Given the description of an element on the screen output the (x, y) to click on. 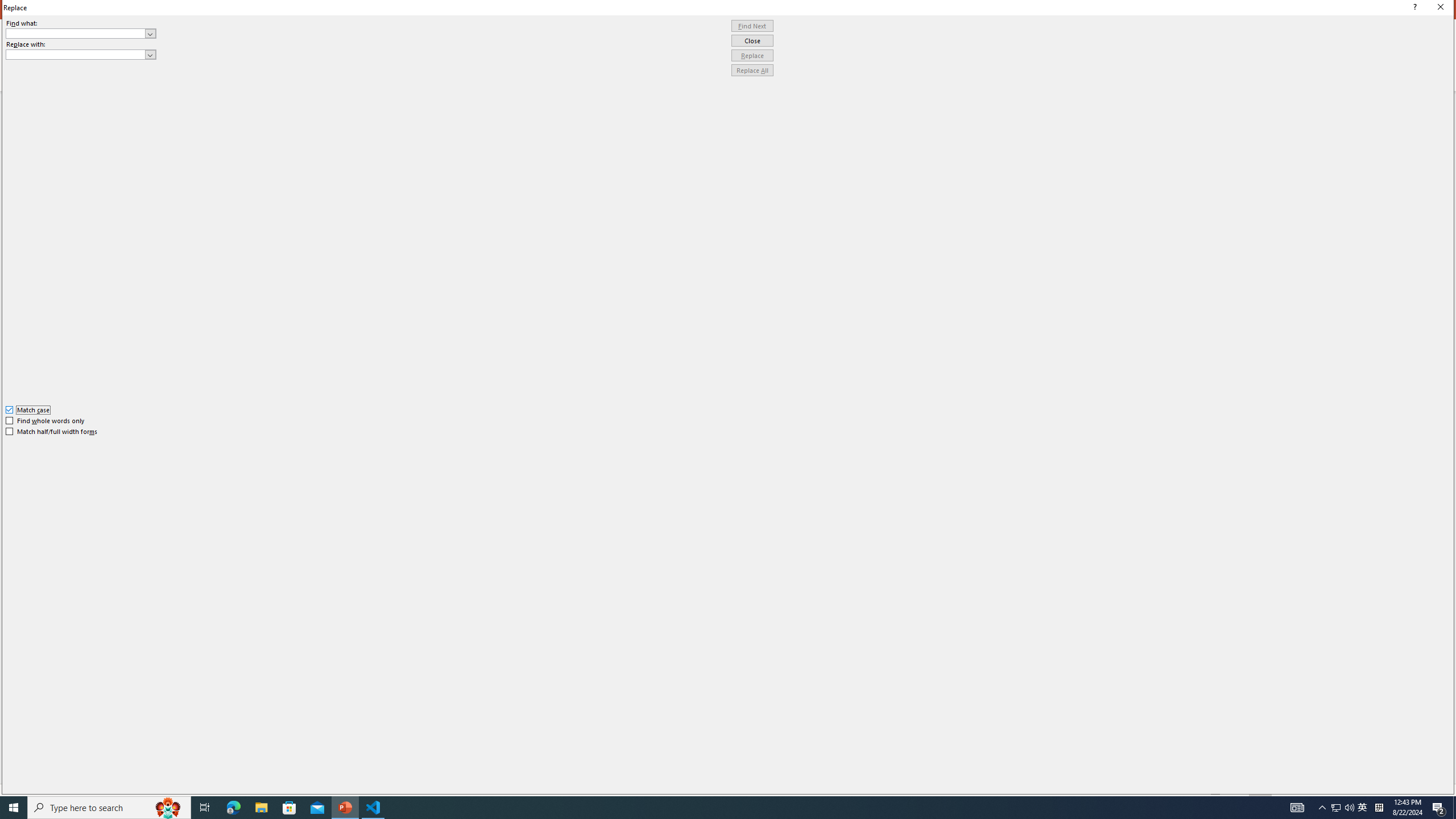
Find what (80, 33)
Find whole words only (45, 420)
Match case (27, 409)
Replace with (75, 53)
Replace with (80, 54)
Replace (752, 55)
Replace All (752, 69)
Find what (75, 33)
Find Next (752, 25)
Match half/full width forms (52, 431)
